Given the description of an element on the screen output the (x, y) to click on. 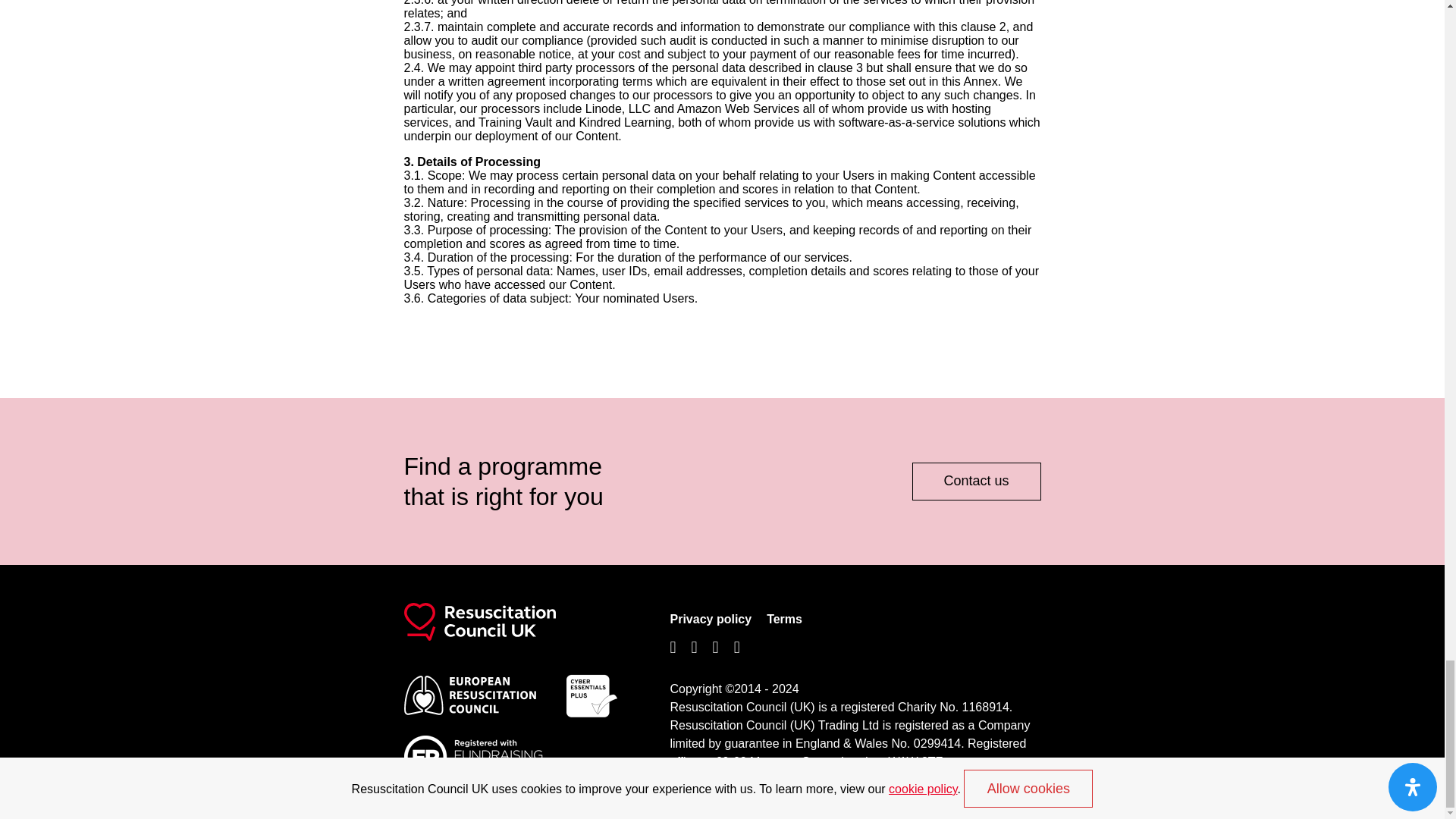
Contact us (976, 481)
Terms (784, 619)
Privacy policy (710, 619)
